Given the description of an element on the screen output the (x, y) to click on. 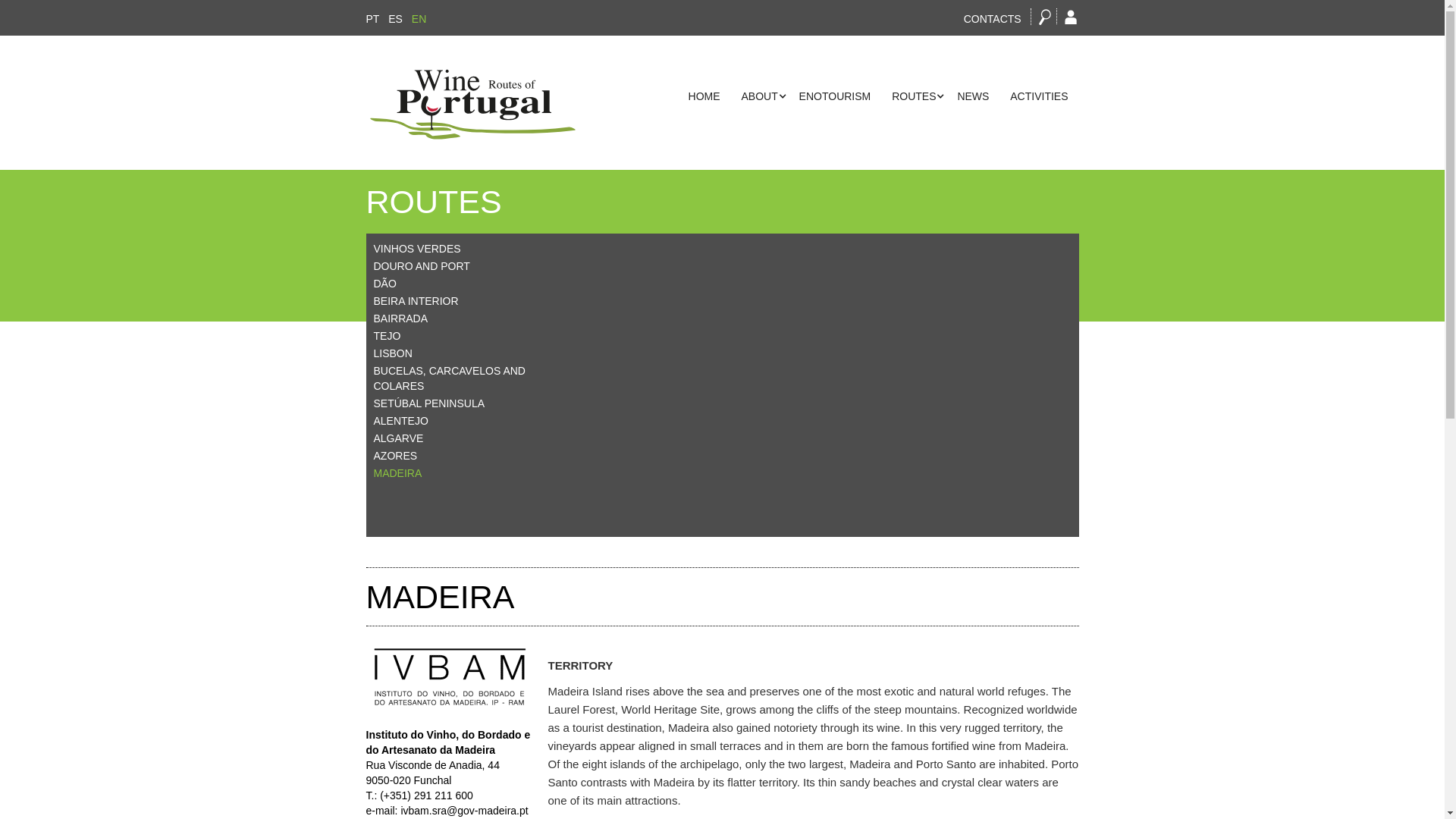
BAIRRADA (453, 318)
BUCELAS, CARCAVELOS AND COLARES (453, 378)
HOME (704, 95)
DOURO AND PORT (453, 265)
LISBON (453, 353)
BEIRA INTERIOR (453, 300)
VINHOS VERDES (453, 248)
ALENTEJO (453, 420)
EN (419, 19)
TEJO (453, 335)
ES (395, 19)
ENOTOURISM (835, 95)
NEWS (972, 95)
ACTIVITIES (1039, 95)
CONTACTS (992, 19)
